Given the description of an element on the screen output the (x, y) to click on. 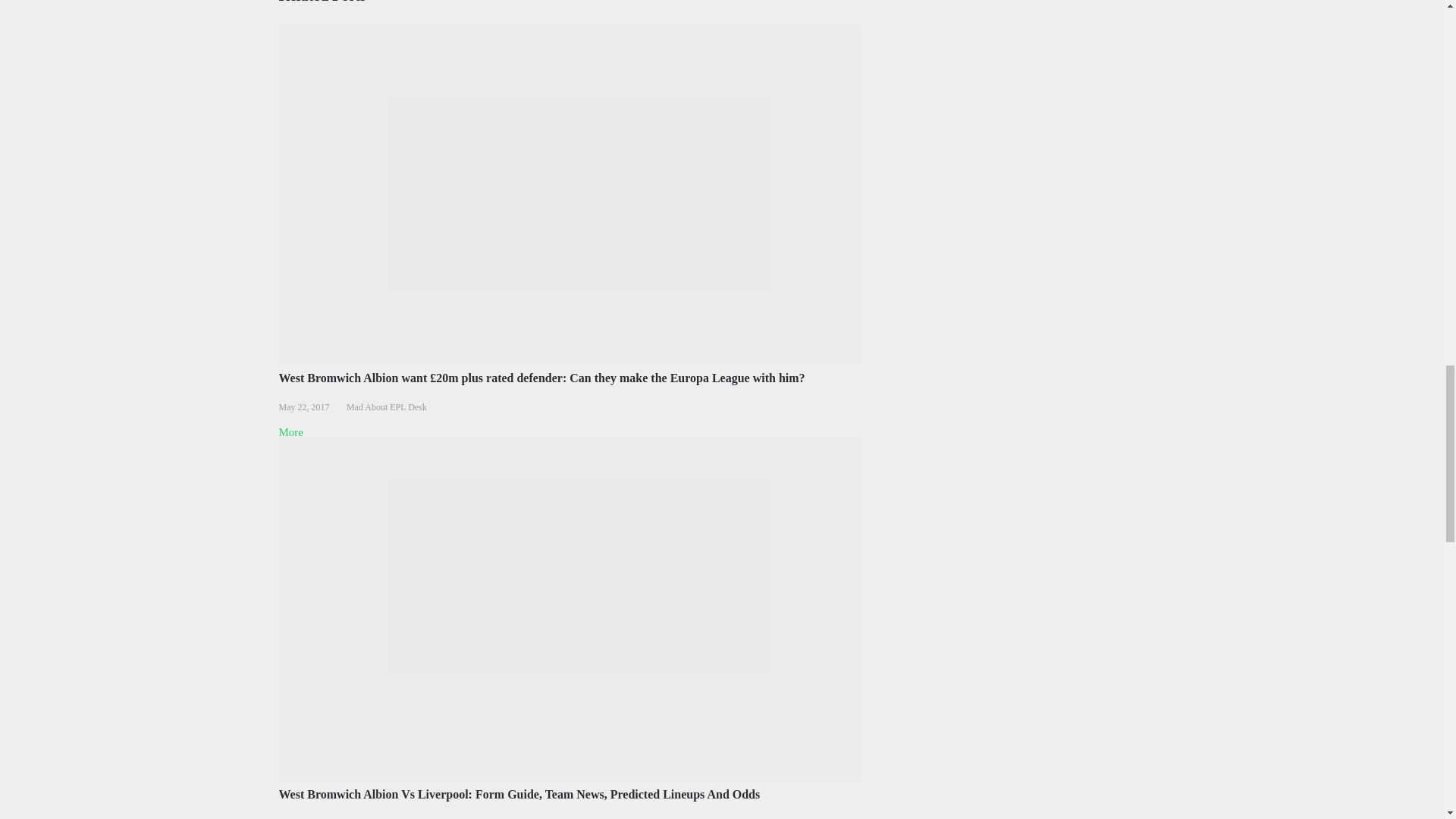
Posts by Sumedh Pande (376, 818)
Posts by Mad About EPL Desk (386, 407)
